Given the description of an element on the screen output the (x, y) to click on. 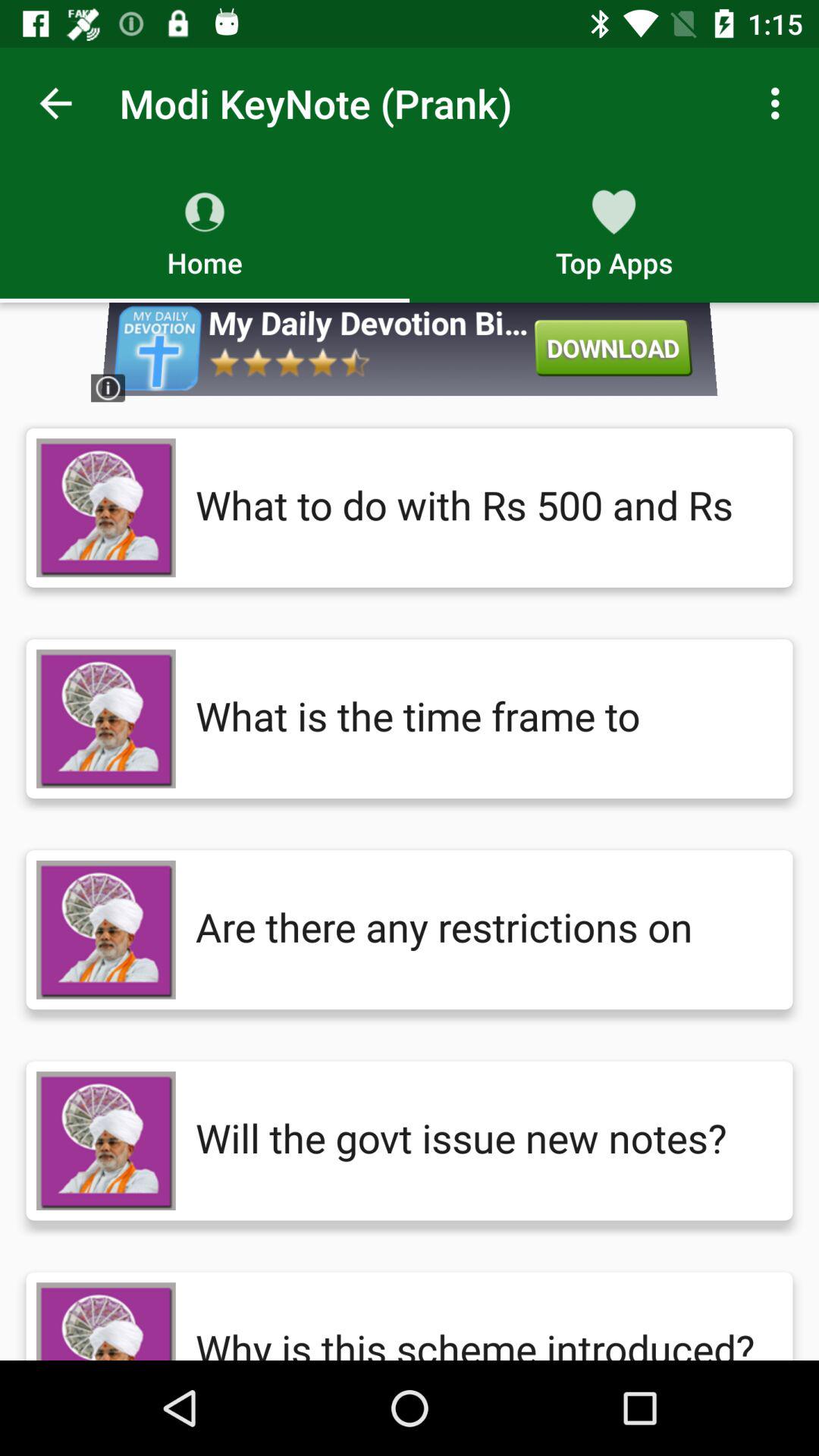
choose the what is the icon (478, 718)
